Given the description of an element on the screen output the (x, y) to click on. 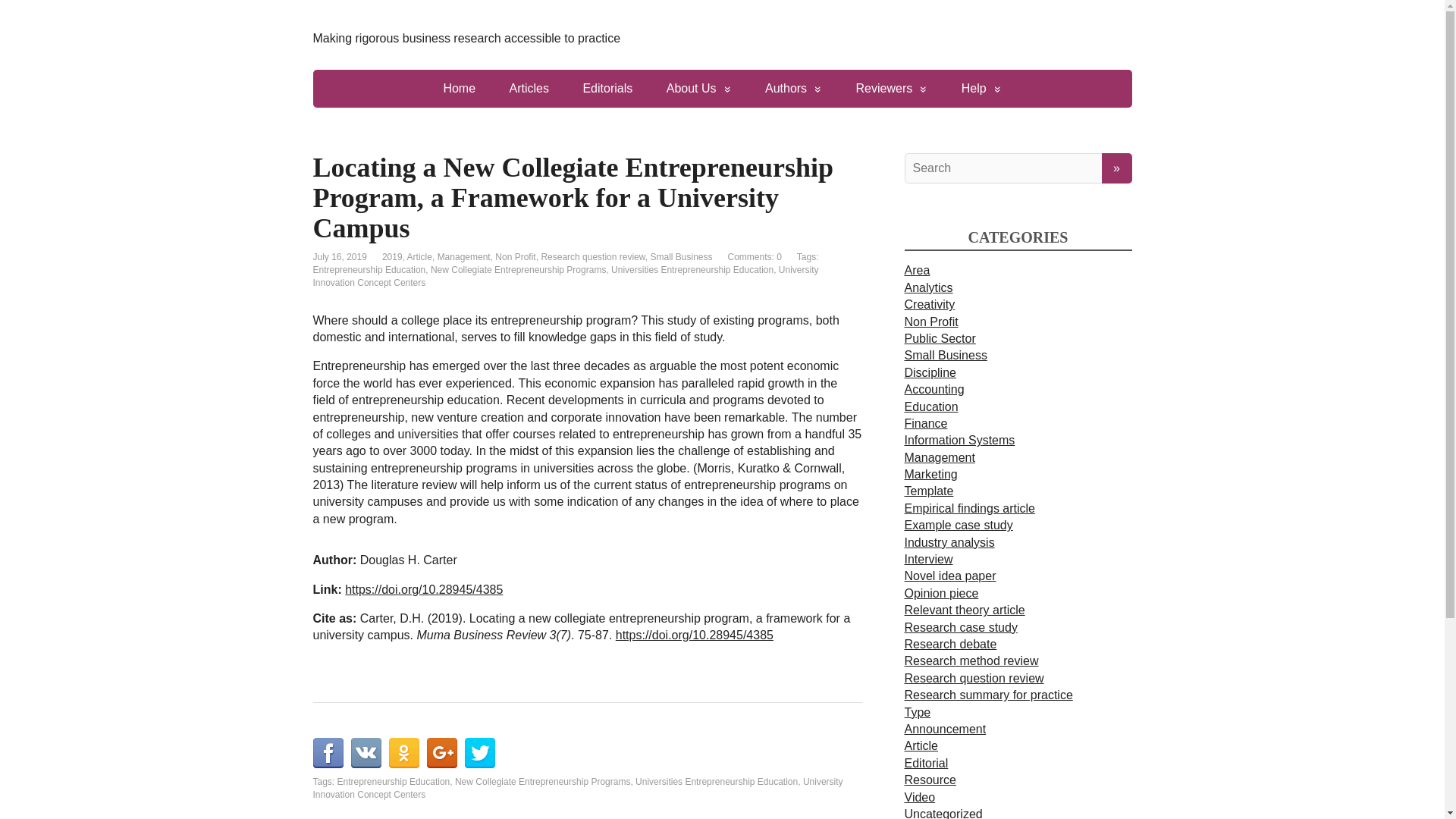
Management (464, 256)
Help (981, 88)
New Collegiate Entrepreneurship Programs (542, 781)
New Collegiate Entrepreneurship Programs (517, 269)
Share in VK (365, 752)
Reviewers (892, 88)
Entrepreneurship Education (393, 781)
Share in Twitter (479, 752)
About Us (698, 88)
Research question review (592, 256)
